Given the description of an element on the screen output the (x, y) to click on. 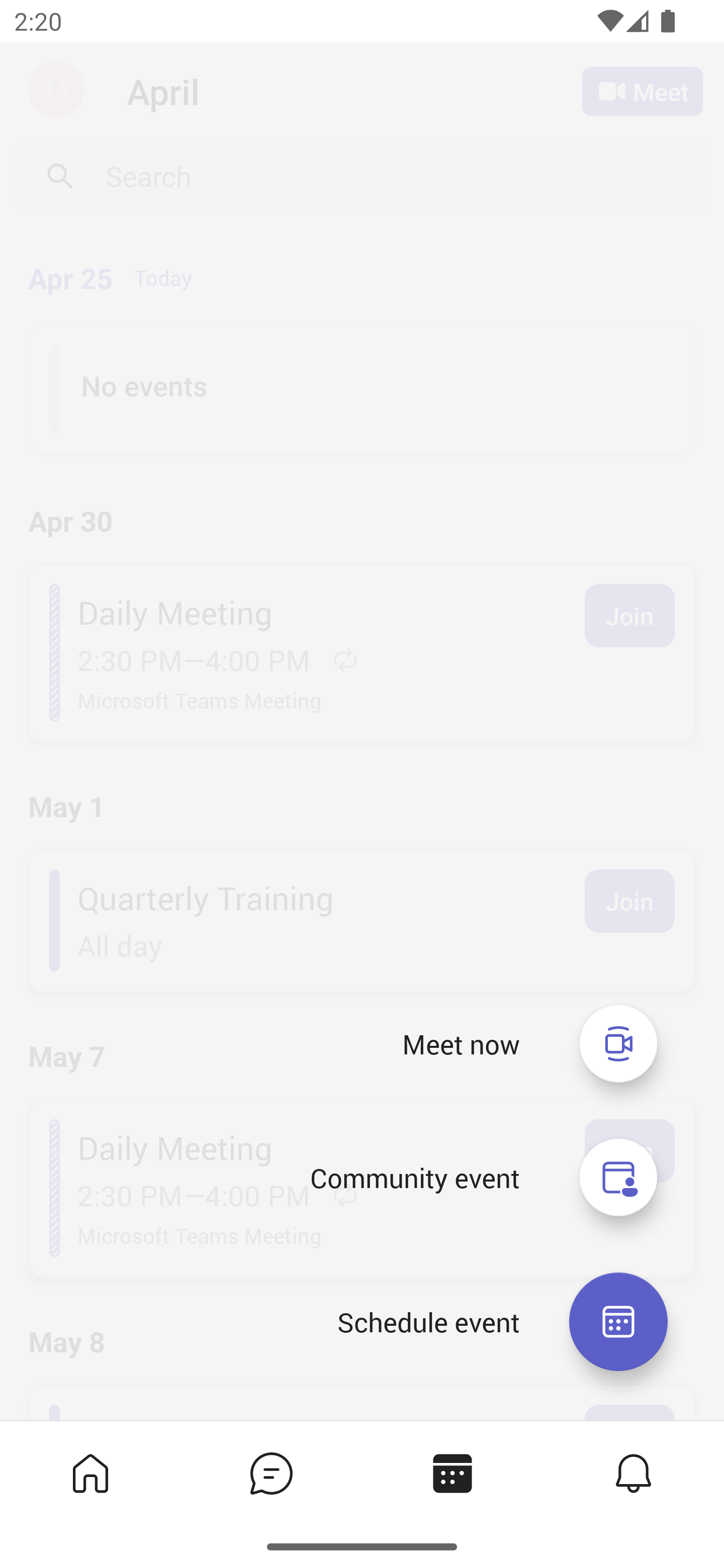
Meet now (618, 1043)
Meet now (461, 1044)
Community event (618, 1177)
Community event (414, 1177)
Schedule event (618, 1321)
Schedule event (428, 1321)
Home tab,1 of 4, not selected (89, 1472)
Chat tab,2 of 4, not selected (270, 1472)
Calendar tab, 3 of 4 (451, 1472)
Activity tab,4 of 4, not selected (632, 1472)
